Given the description of an element on the screen output the (x, y) to click on. 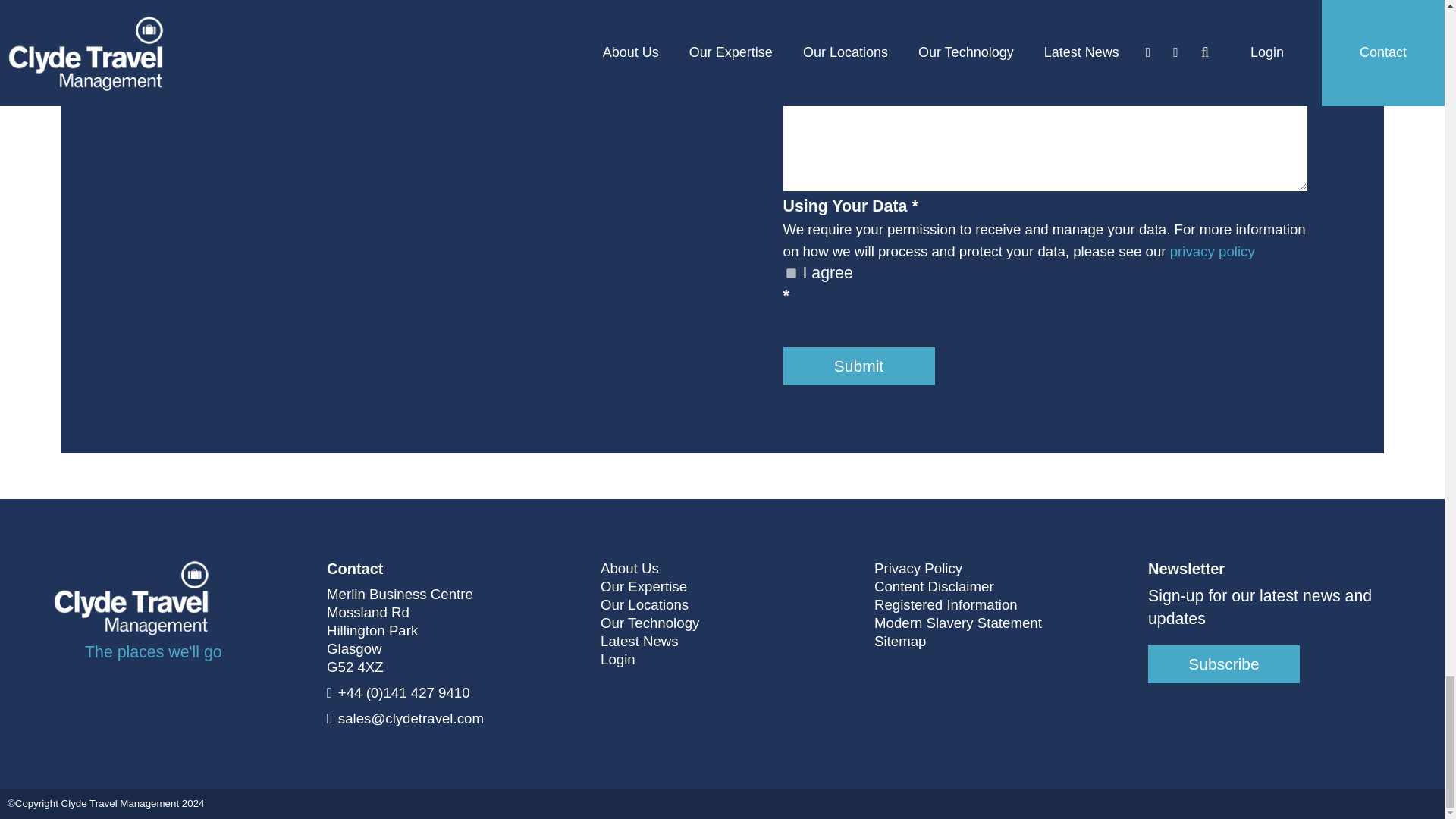
Submit (858, 365)
About Us (629, 568)
privacy policy (1212, 251)
true (790, 273)
Our Technology (648, 623)
Our Expertise (643, 587)
Our Locations (643, 605)
Submit (858, 365)
